Given the description of an element on the screen output the (x, y) to click on. 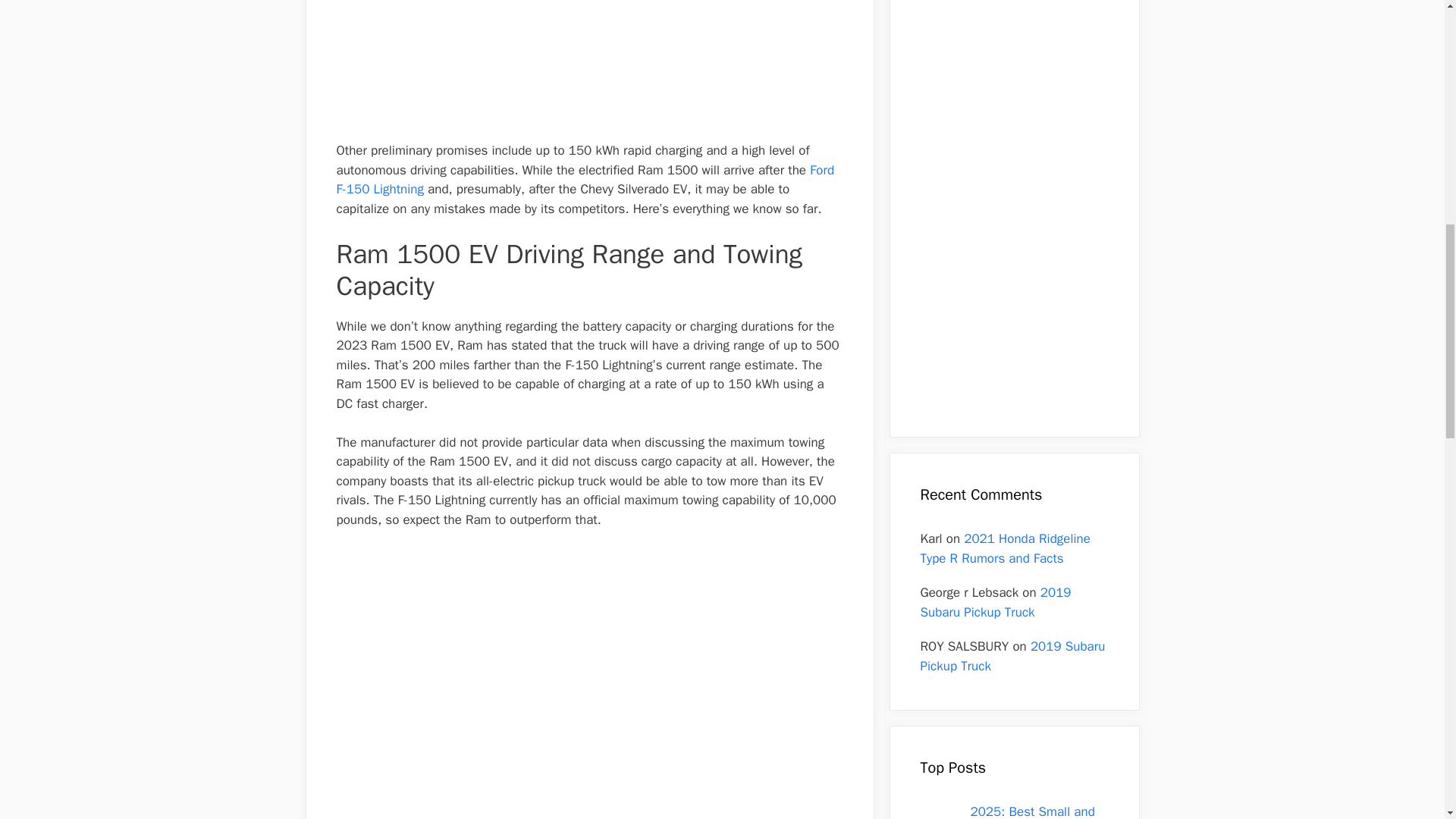
2025: Best Small and Midsize Pickup Trucks in the US Market (1038, 811)
Ford F-150 Lightning (585, 180)
Advertisement (589, 68)
